Given the description of an element on the screen output the (x, y) to click on. 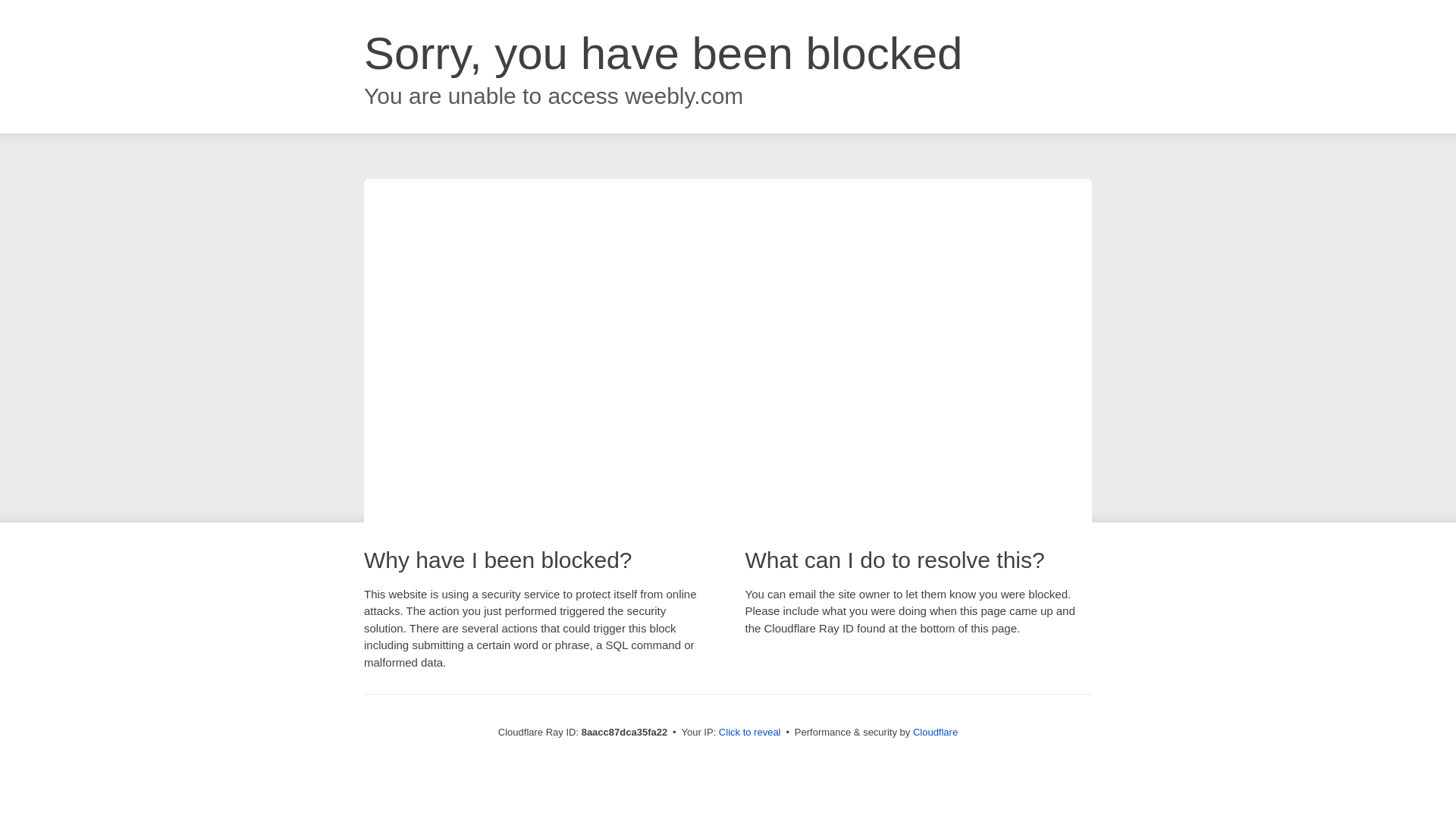
Cloudflare (935, 731)
Click to reveal (749, 732)
